Given the description of an element on the screen output the (x, y) to click on. 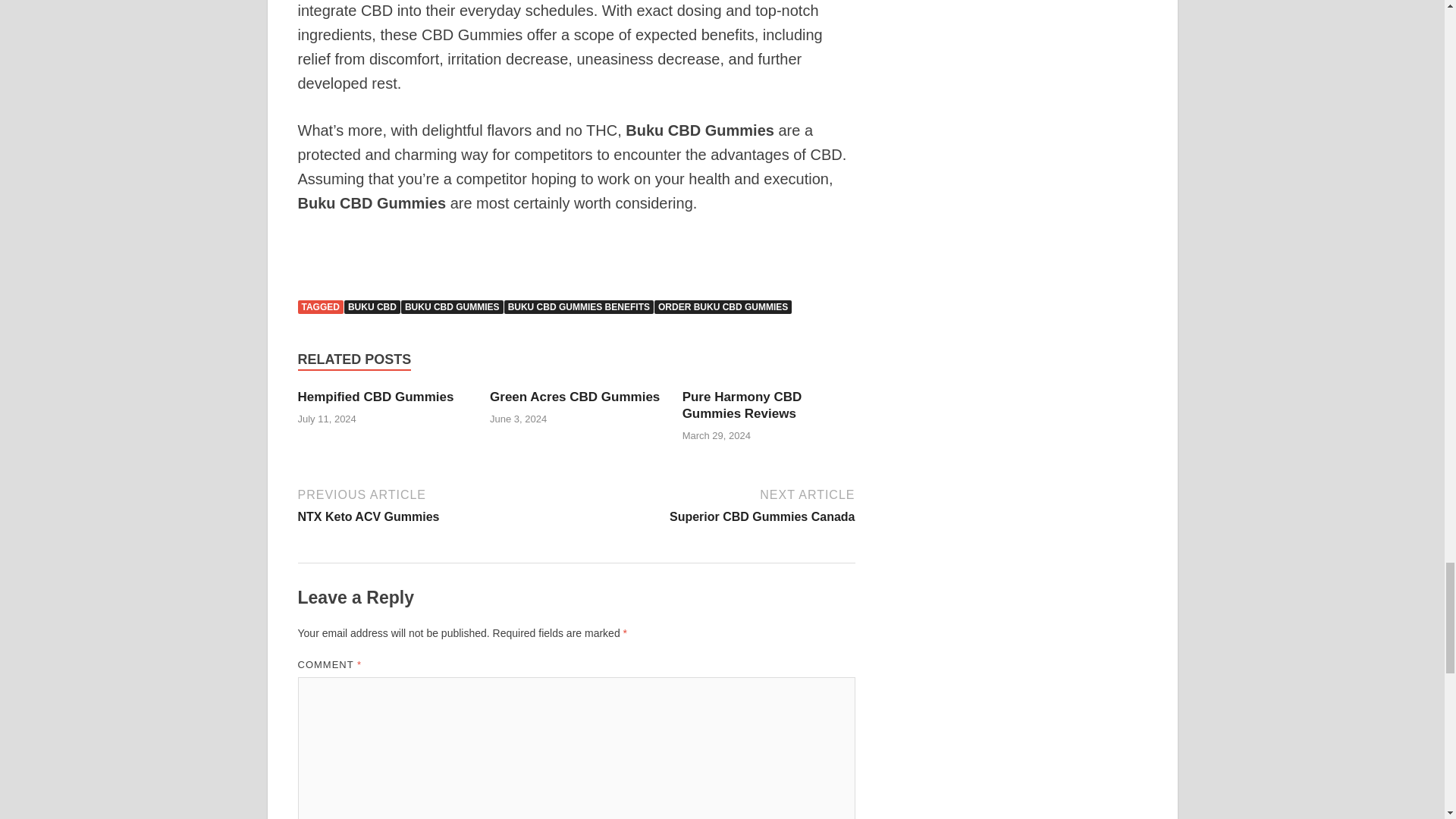
BUKU CBD GUMMIES BENEFITS (578, 306)
Pure Harmony CBD Gummies Reviews (742, 404)
BUKU CBD (371, 306)
ORDER BUKU CBD GUMMIES (722, 306)
Green Acres CBD Gummies (574, 396)
BUKU CBD GUMMIES (452, 306)
Buy (310, 249)
Hempified CBD Gummies (374, 396)
